Given the description of an element on the screen output the (x, y) to click on. 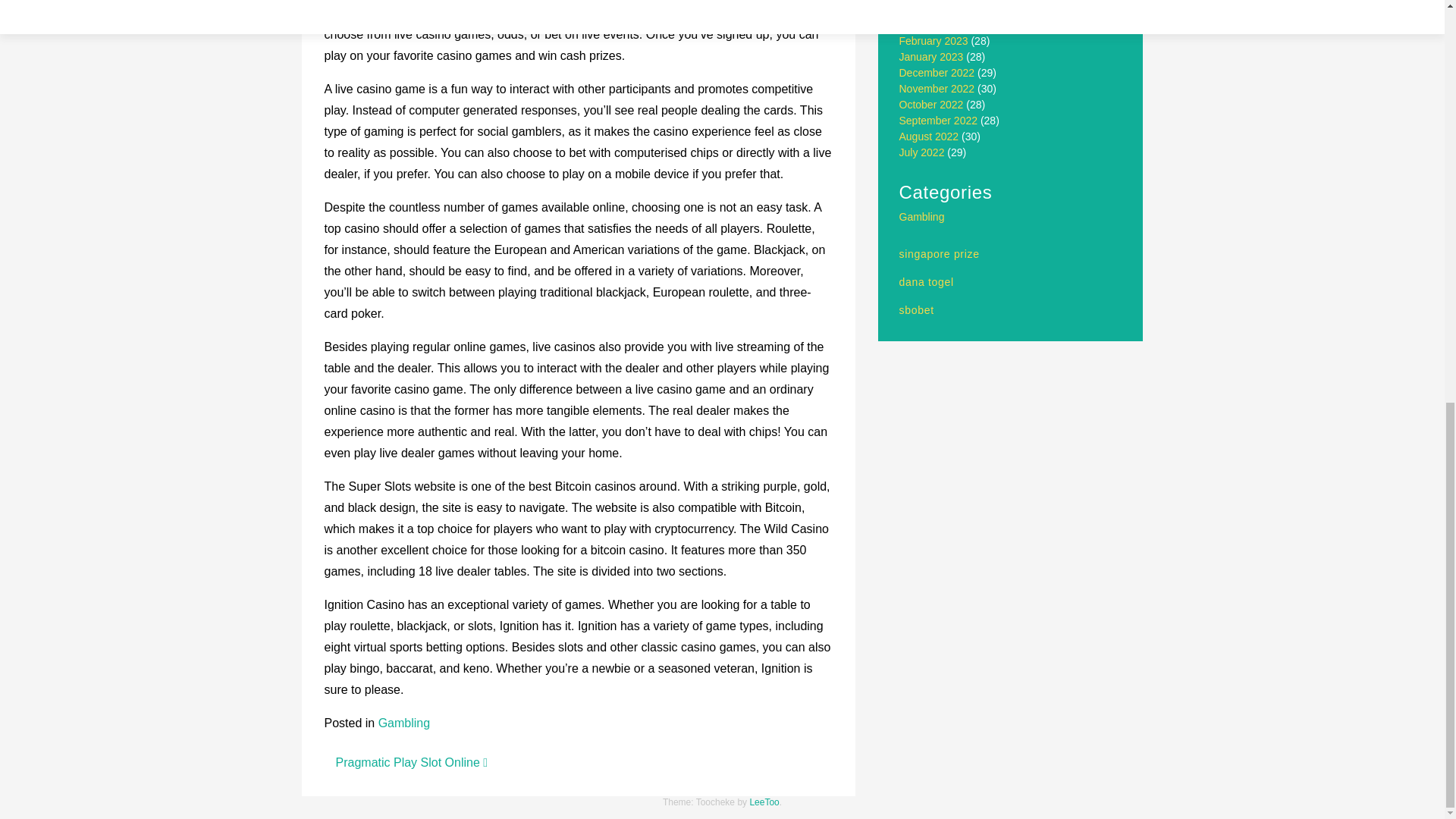
July 2022 (921, 152)
January 2023 (931, 56)
November 2022 (937, 88)
October 2022 (931, 104)
Gambling (403, 722)
August 2022 (929, 136)
dana togel (926, 282)
March 2023 (927, 24)
Gambling (921, 216)
April 2023 (923, 9)
December 2022 (937, 72)
February 2023 (933, 40)
September 2022 (938, 120)
Pragmatic Play Slot Online  (410, 762)
singapore prize (939, 254)
